Given the description of an element on the screen output the (x, y) to click on. 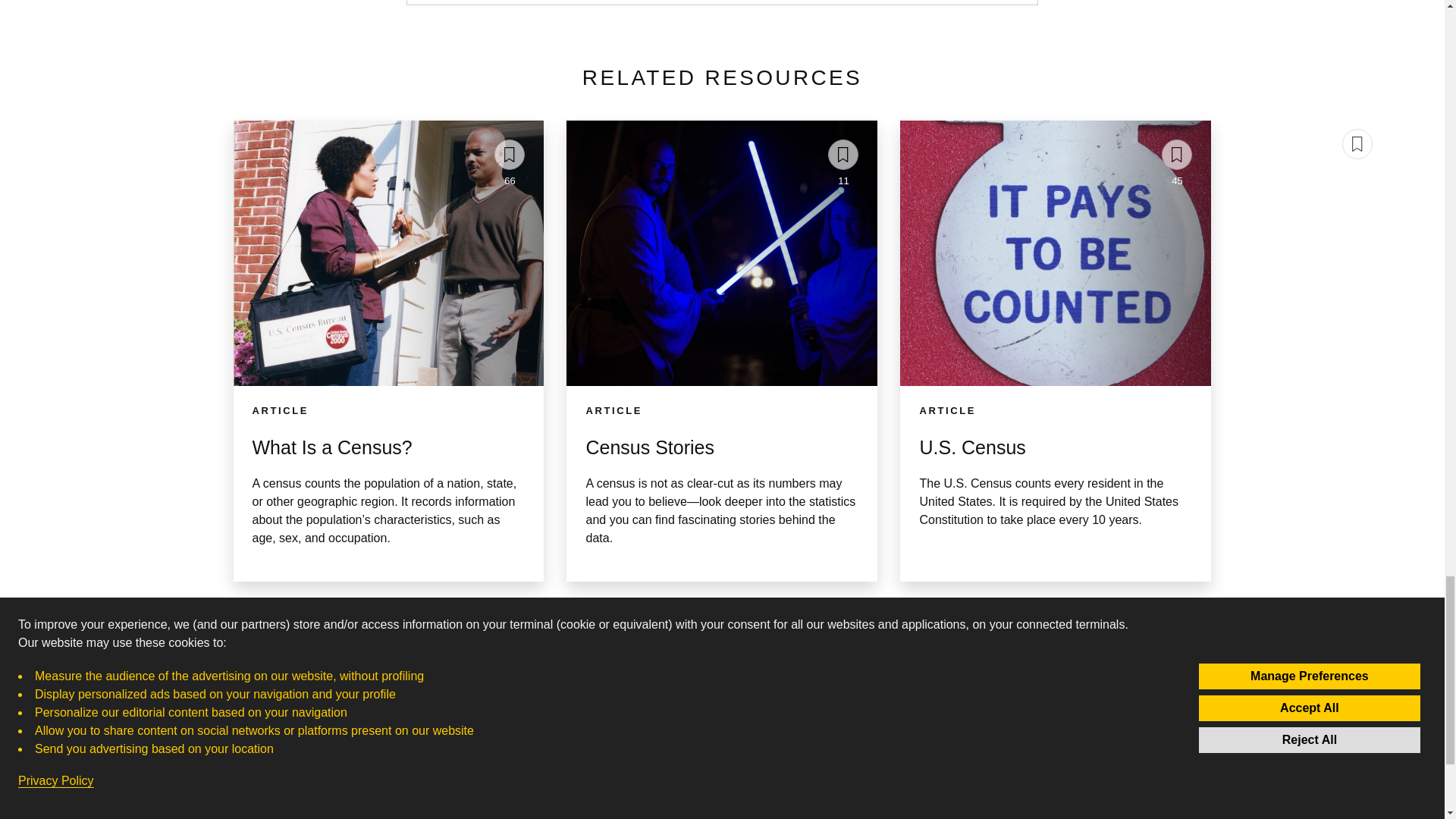
Our Explorers (721, 734)
Education (721, 784)
News and Impact (551, 784)
Nat Geo Live (721, 807)
National Geographic Society (551, 734)
Contact Us (551, 807)
NatGeo.com (551, 760)
Our Programs (1176, 181)
